Given the description of an element on the screen output the (x, y) to click on. 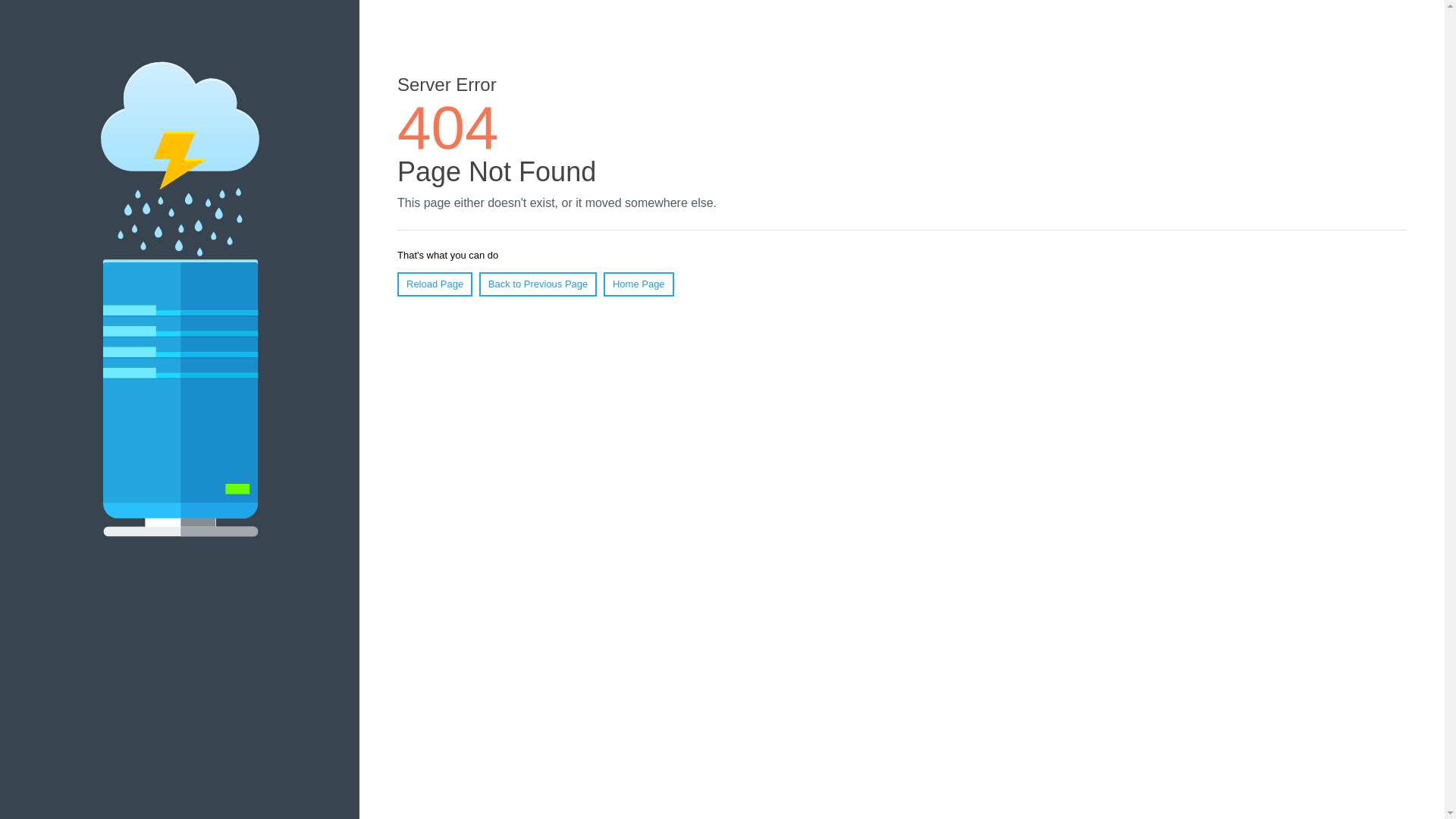
Home Page Element type: text (638, 284)
Reload Page Element type: text (434, 284)
Back to Previous Page Element type: text (538, 284)
